Given the description of an element on the screen output the (x, y) to click on. 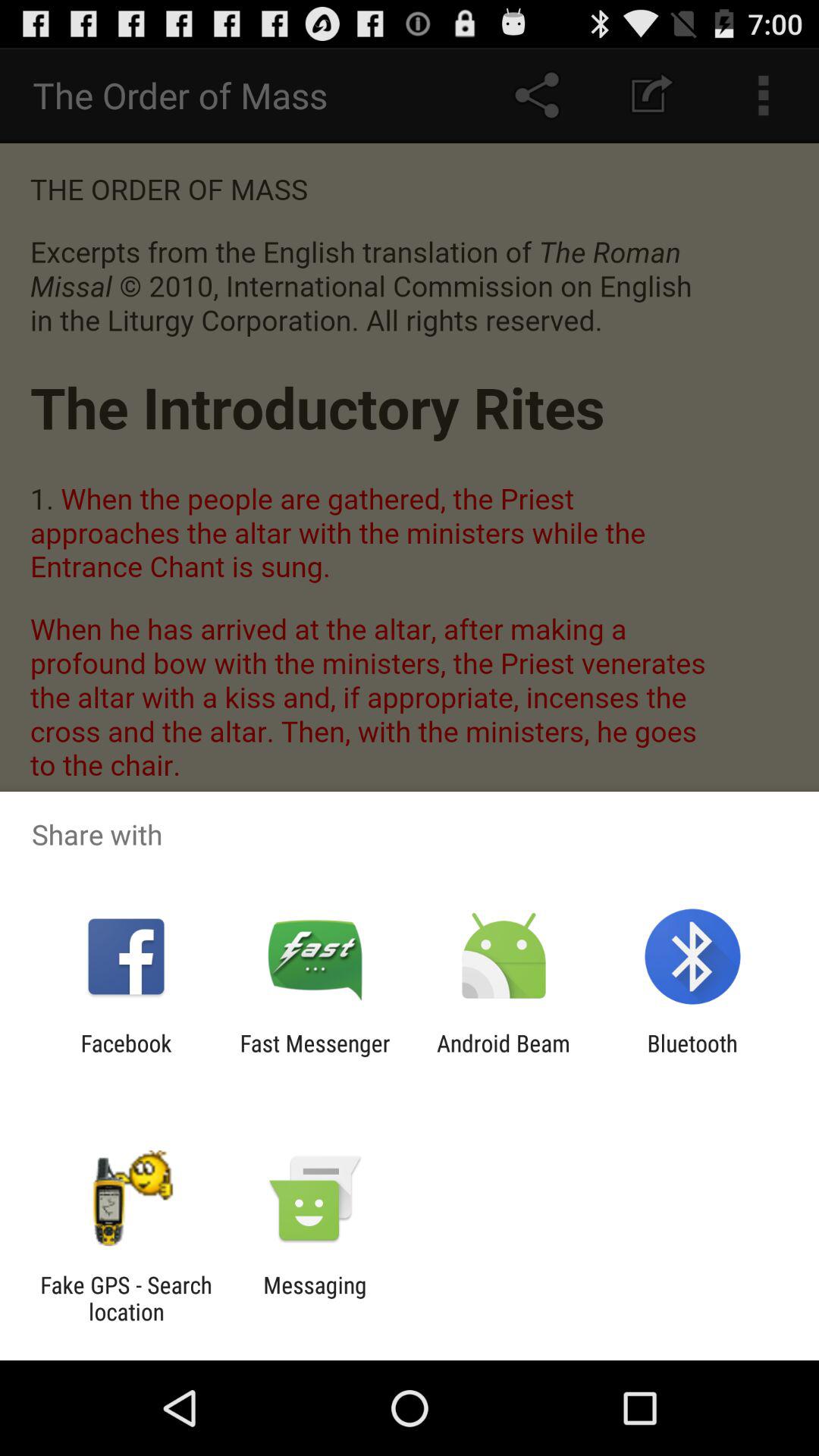
click the bluetooth icon (692, 1056)
